Given the description of an element on the screen output the (x, y) to click on. 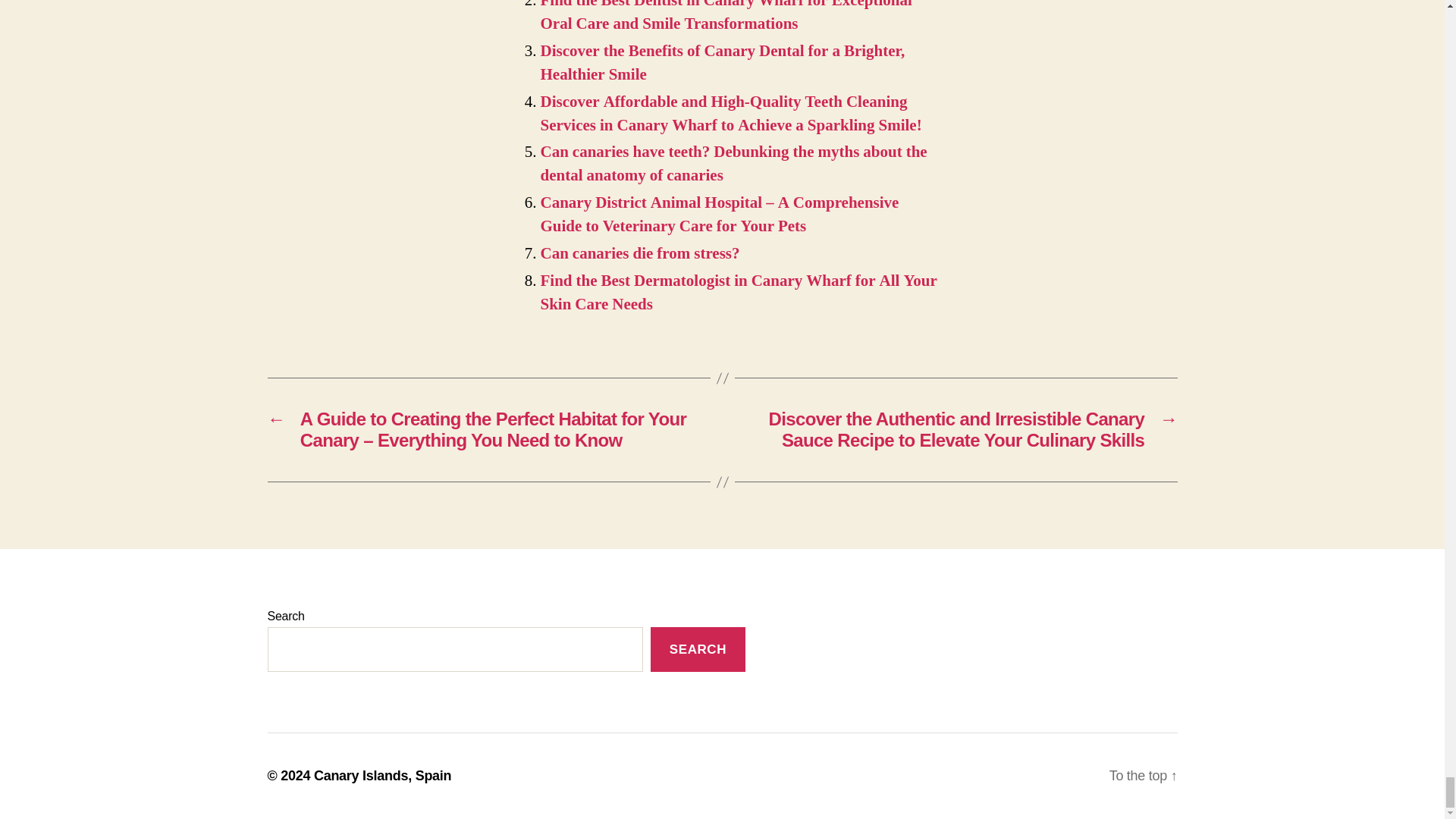
Can canaries die from stress? (639, 253)
SEARCH (697, 649)
